Given the description of an element on the screen output the (x, y) to click on. 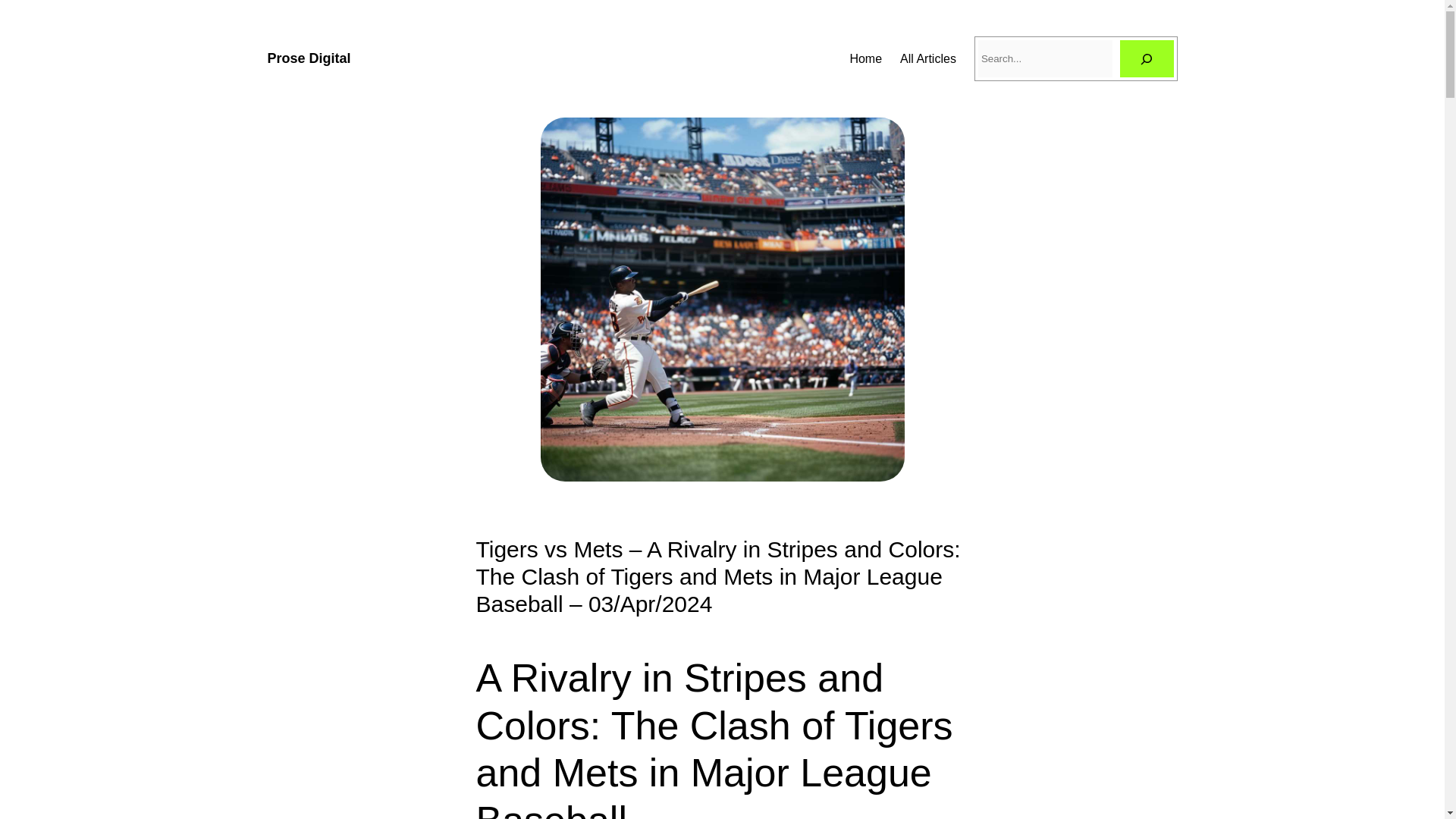
Prose Digital (308, 58)
Home (865, 58)
All Articles (927, 58)
